Given the description of an element on the screen output the (x, y) to click on. 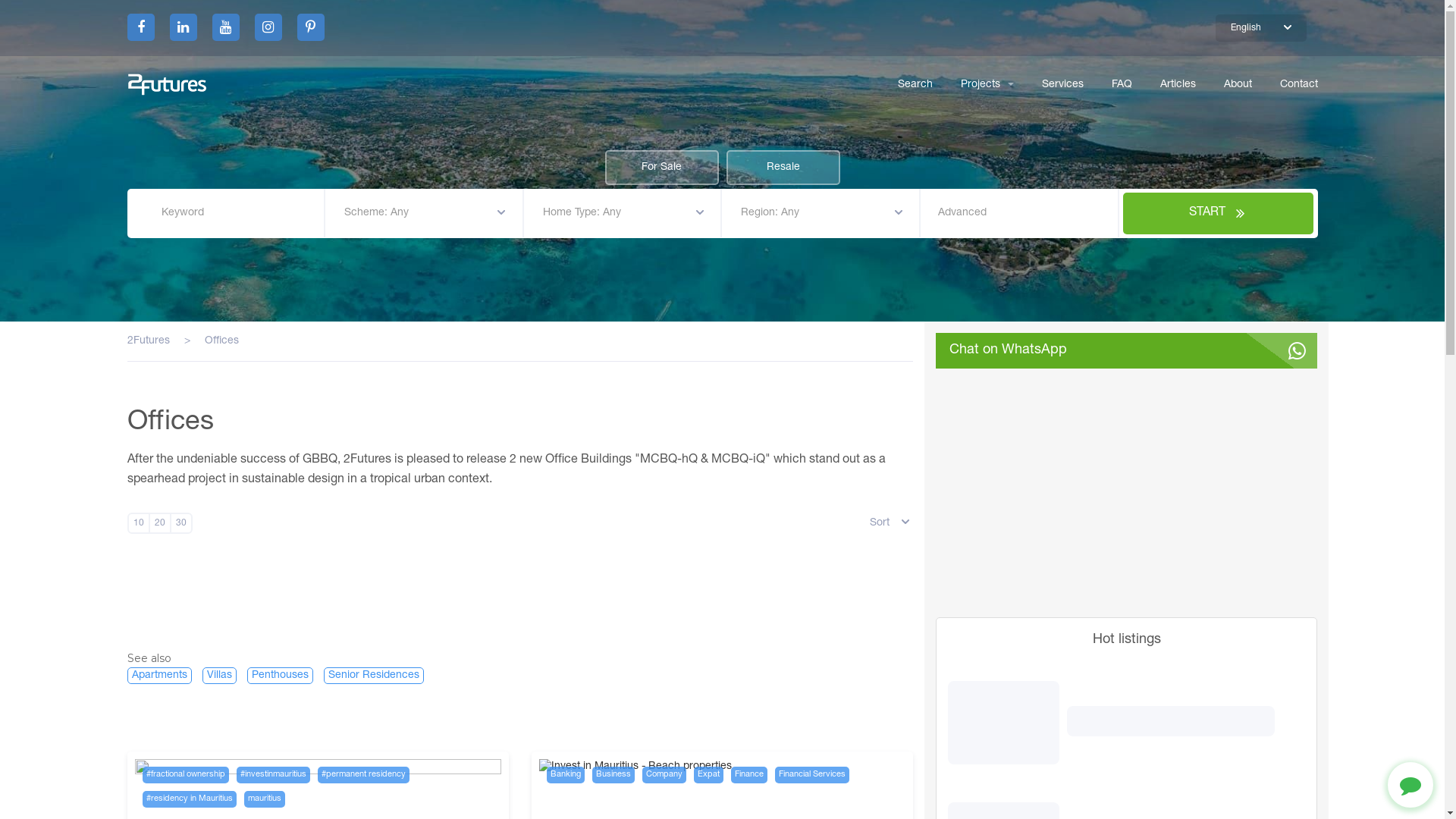
Villas Element type: text (218, 675)
Senior Residences Element type: text (373, 675)
Financial Services Element type: text (812, 774)
2Futures Element type: text (148, 340)
FAQ Element type: text (1121, 84)
30 Element type: text (180, 522)
Apartments Element type: text (159, 675)
#investinmauritius Element type: text (273, 774)
2Beach Club by 2Futures - Pereybere, Mauritius Element type: hover (1126, 486)
Articles Element type: text (1177, 84)
START Element type: text (1218, 213)
Expat Element type: text (708, 774)
Chat on WhatsApp Element type: text (1126, 350)
Projects Element type: text (979, 84)
English Element type: text (1259, 27)
#fractional ownership Element type: text (185, 774)
Search Element type: text (914, 84)
#residency in Mauritius Element type: text (189, 798)
10 Element type: text (138, 522)
Finance Element type: text (749, 774)
Pinterest Element type: hover (310, 26)
  Element type: text (140, 26)
Business Element type: text (613, 774)
  Element type: text (225, 26)
#permanent residency Element type: text (362, 774)
  Element type: text (268, 26)
Advanced Element type: text (1018, 212)
Contact Element type: text (1298, 84)
mauritius Element type: text (264, 798)
  Element type: text (183, 26)
20 Element type: text (159, 522)
Banking Element type: text (565, 774)
Company Element type: text (664, 774)
Services Element type: text (1062, 84)
About Element type: text (1237, 84)
Penthouses Element type: text (280, 675)
2F-logo-white Element type: hover (167, 84)
  Element type: text (310, 26)
